Given the description of an element on the screen output the (x, y) to click on. 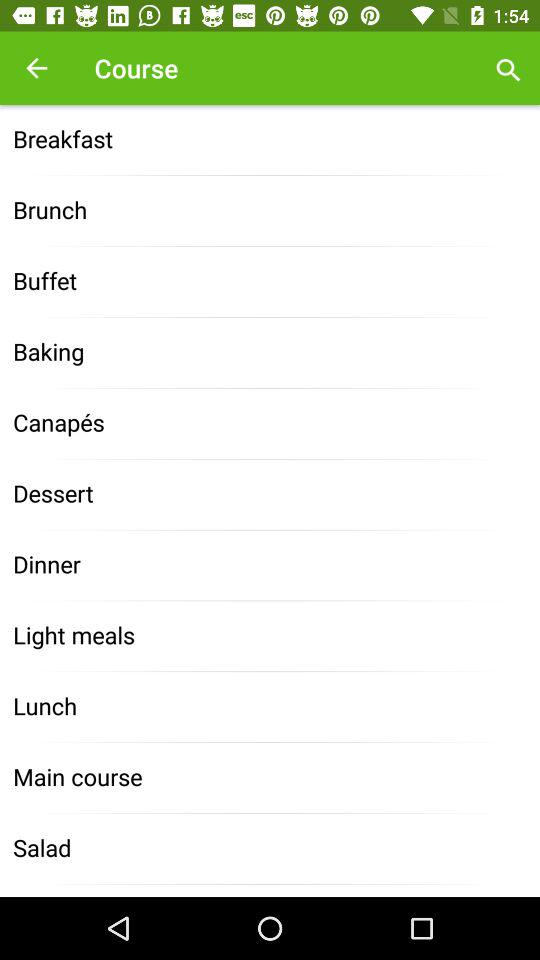
jump to buffet icon (270, 281)
